Given the description of an element on the screen output the (x, y) to click on. 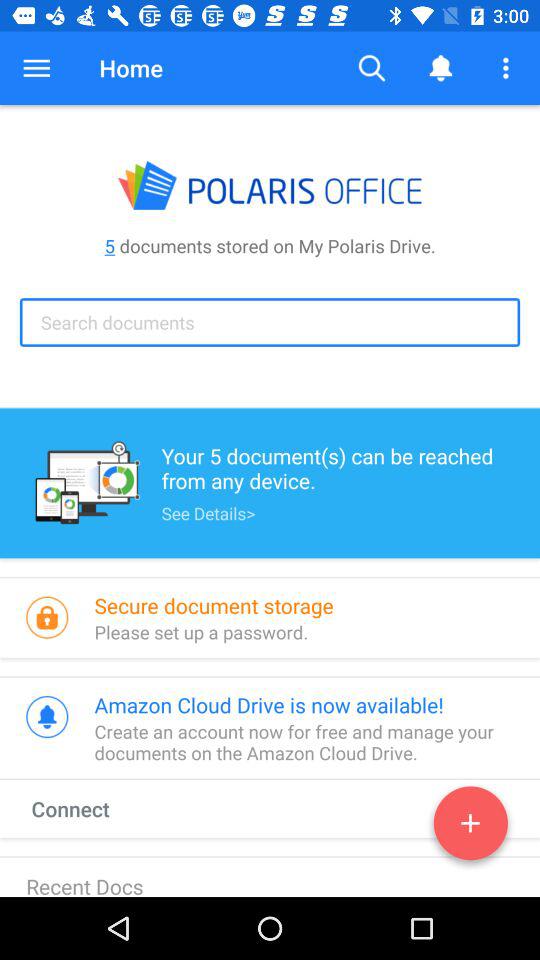
launch item above recent docs item (89, 808)
